Given the description of an element on the screen output the (x, y) to click on. 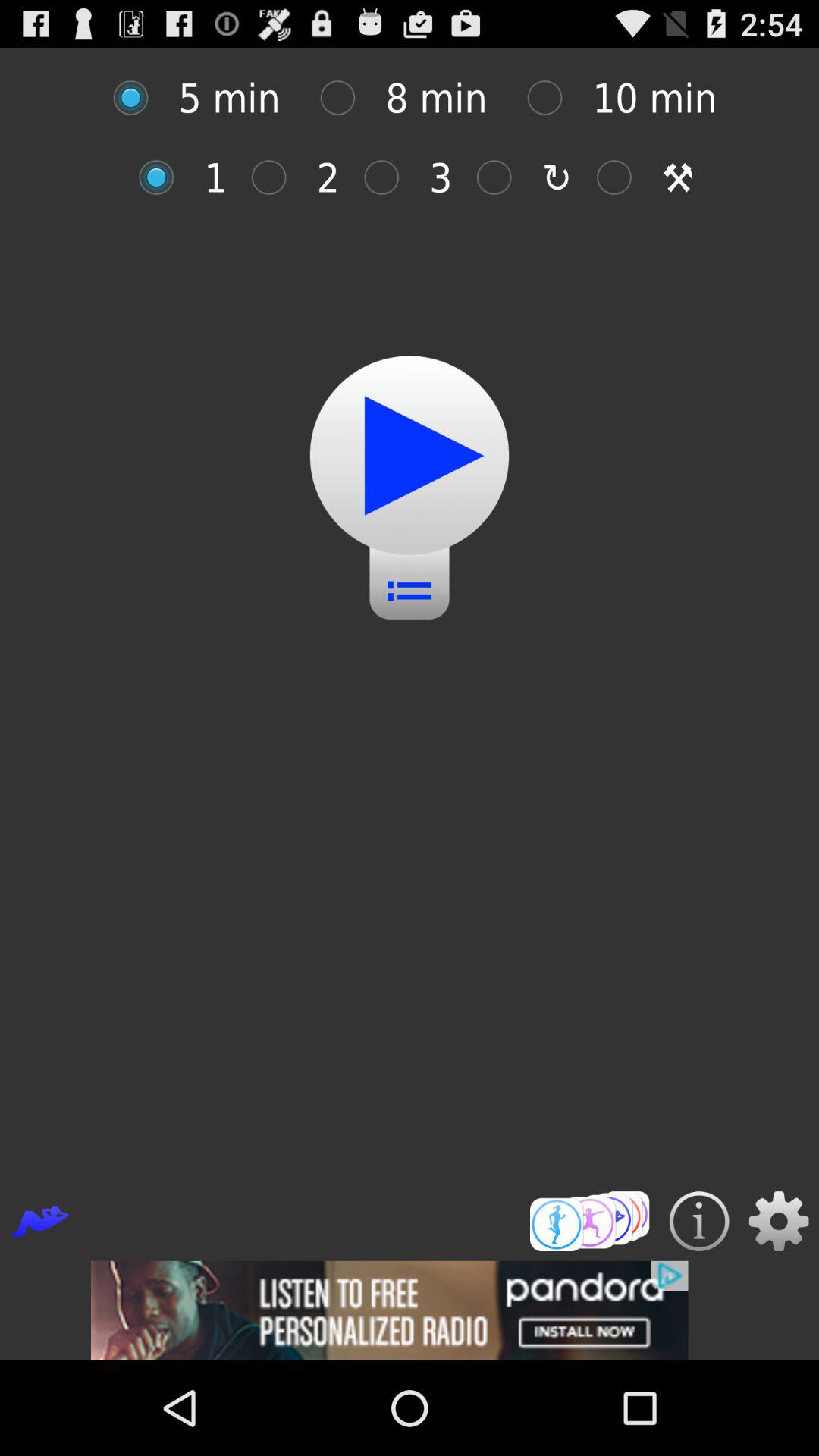
selecting box (345, 97)
